Given the description of an element on the screen output the (x, y) to click on. 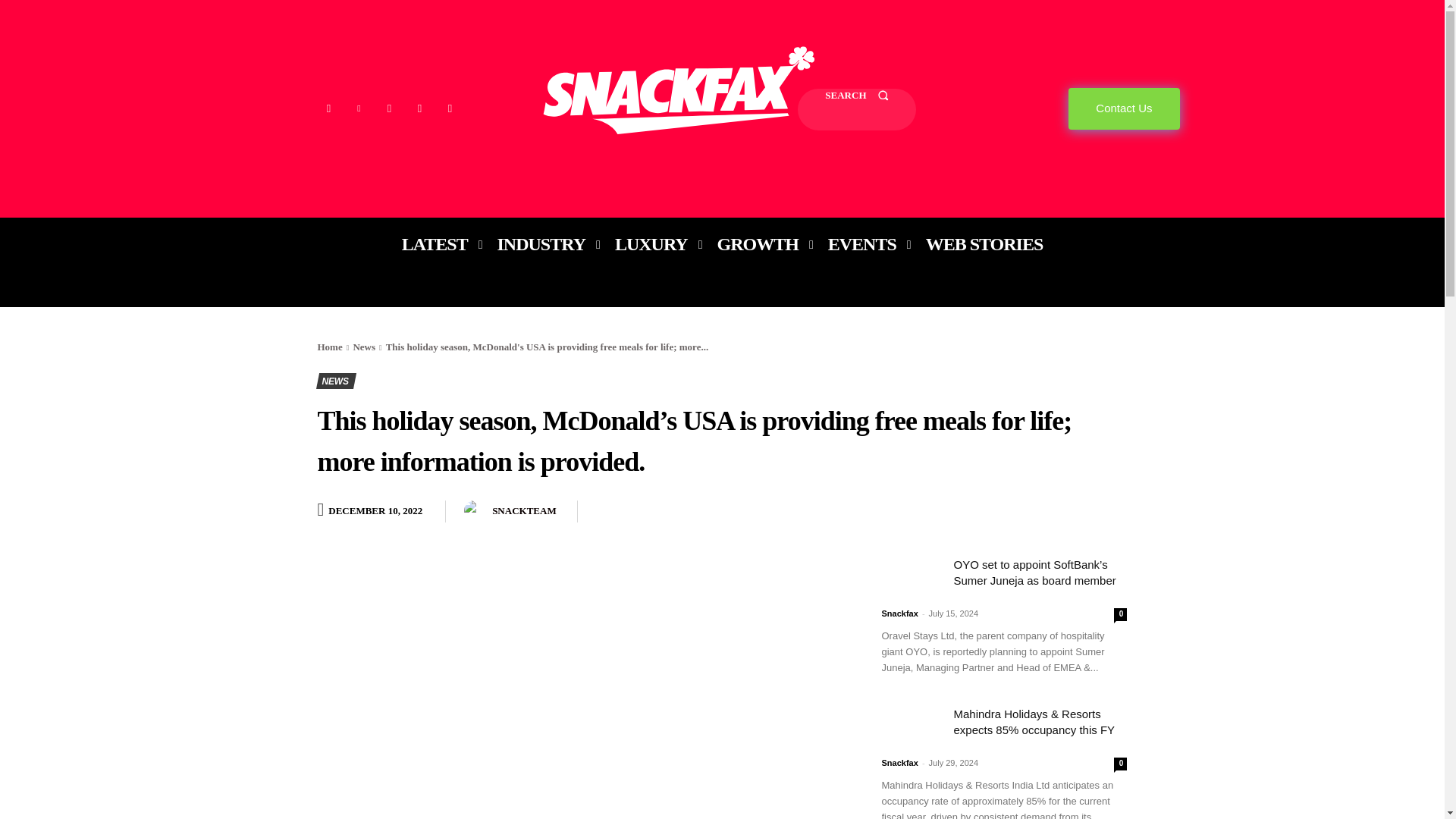
Youtube (449, 108)
Facebook (388, 108)
LinkedIn (358, 108)
Twitter (418, 108)
Instagram (328, 108)
SEARCH (856, 109)
